Given the description of an element on the screen output the (x, y) to click on. 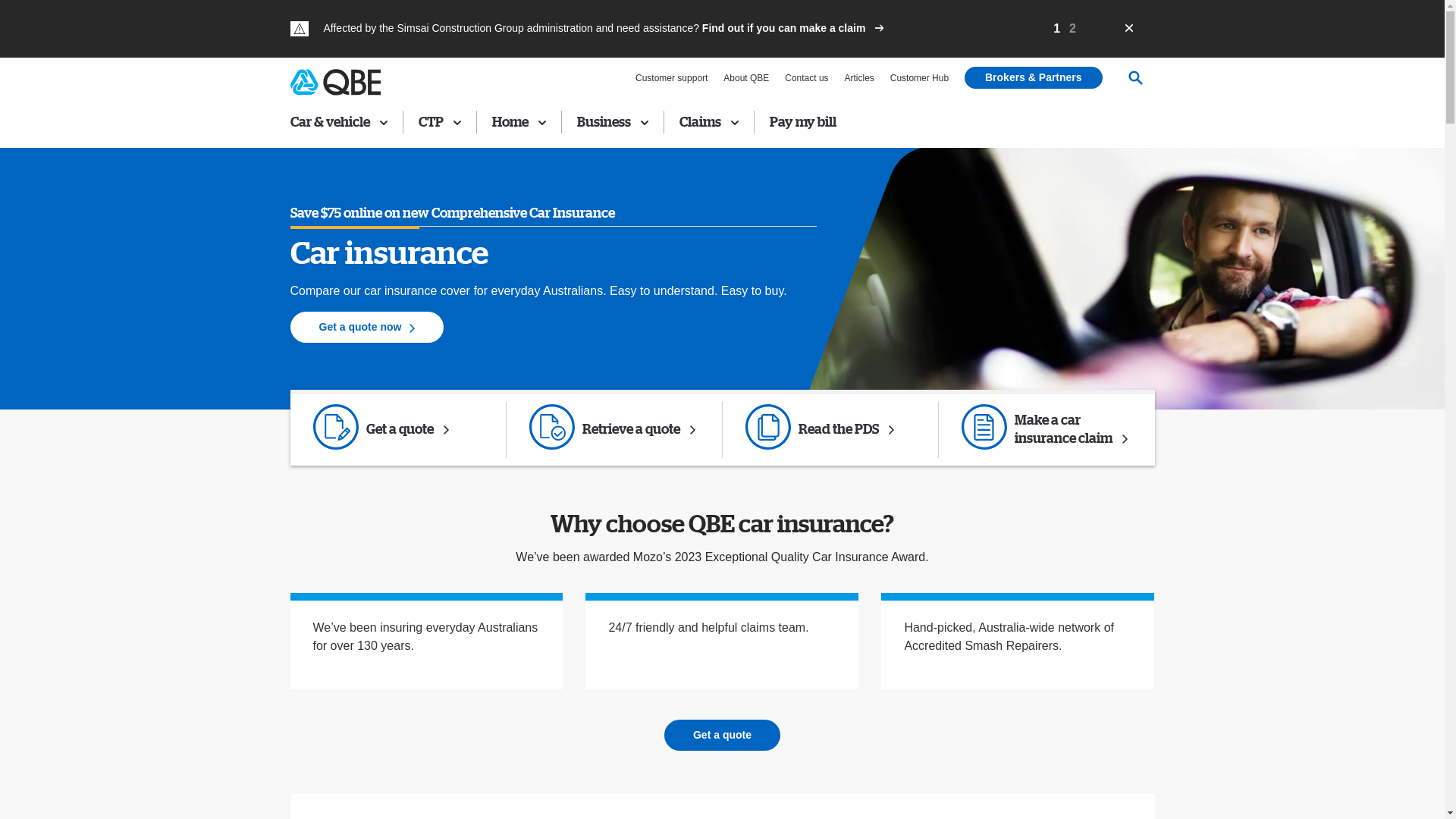
Contact us Element type: text (806, 77)
Car & vehicle Element type: text (340, 121)
Get a quote Element type: text (722, 734)
Find out if you can make a claim Element type: text (793, 27)
Search Element type: text (1135, 77)
2 Element type: text (1072, 28)
Business Element type: text (611, 121)
Claims Element type: text (708, 121)
CTP Element type: text (439, 121)
Articles Element type: text (858, 77)
About QBE Element type: text (745, 77)
Forms Created with Sketch.
Read the PDS Element type: text (835, 429)
Home Element type: text (518, 121)
Get a quote Created with Sketch.
Get a quote Element type: text (402, 429)
Retrieve a quote Created with Sketch.
Retrieve a quote Element type: text (619, 429)
1 Element type: text (1056, 28)
Customer Hub Element type: text (919, 77)
search Element type: text (1138, 170)
Get a quote now Element type: text (366, 326)
QBE Insurance Element type: hover (334, 82)
Make a claim Created with Sketch.
Make a car insurance claim Element type: text (1051, 429)
Pay my bill Element type: text (801, 121)
Customer support Element type: text (671, 77)
Brokers & Partners Element type: text (1033, 77)
